Given the description of an element on the screen output the (x, y) to click on. 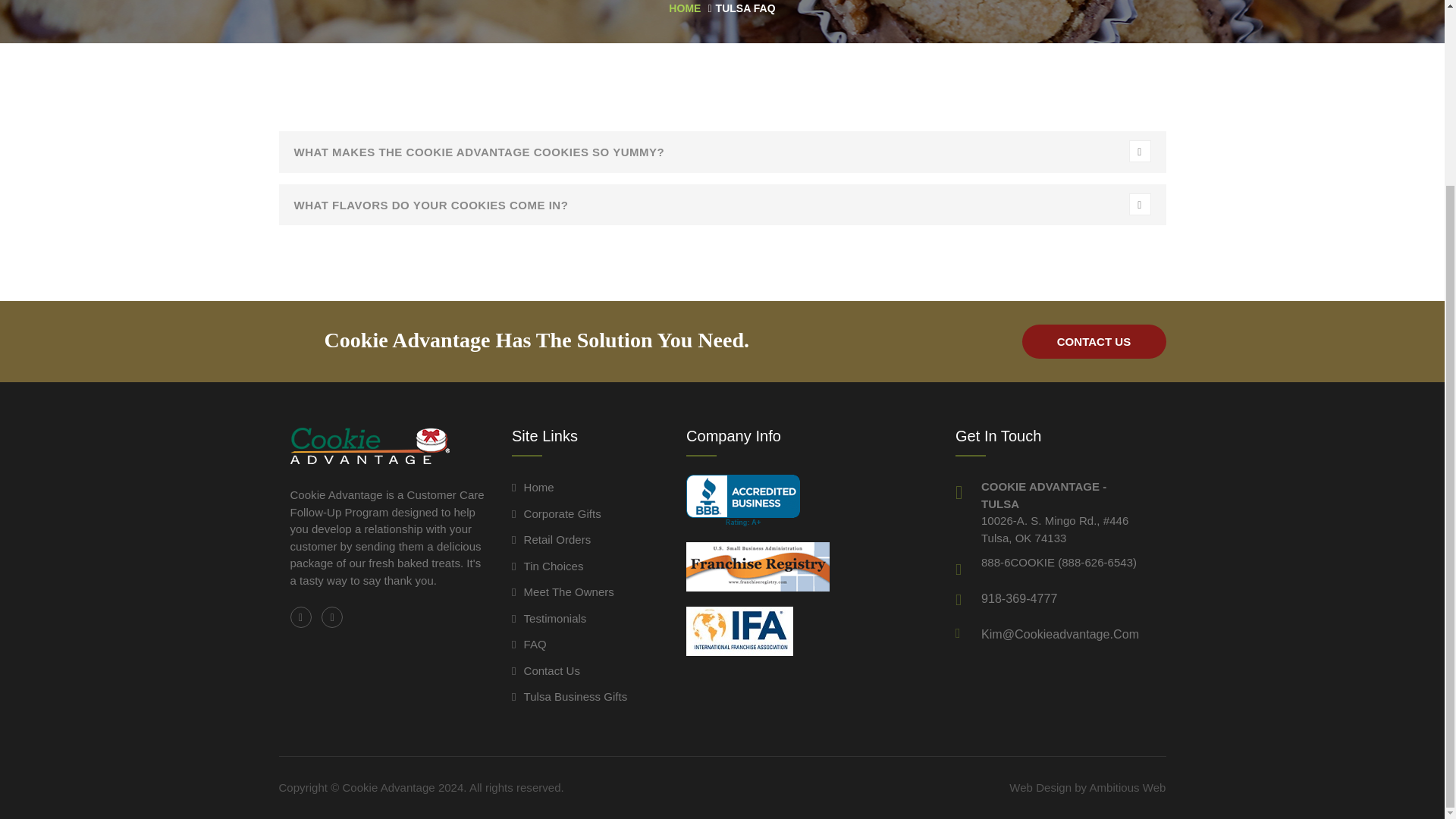
Contact Us (545, 670)
Corporate Gifts (556, 513)
918-369-4777 (1019, 598)
FAQ (529, 644)
Testimonials (549, 617)
Tulsa Business Gifts (569, 696)
WHAT MAKES THE COOKIE ADVANTAGE COOKIES SO YUMMY? (722, 151)
Home (533, 486)
Meet The Owners (563, 591)
CONTACT US (1094, 341)
TULSA FAQ (746, 8)
HOME (684, 8)
Retail Orders (551, 539)
Cookie Advantage, Novelties, Bixby, OK (742, 501)
WHAT FLAVORS DO YOUR COOKIES COME IN? (722, 204)
